Given the description of an element on the screen output the (x, y) to click on. 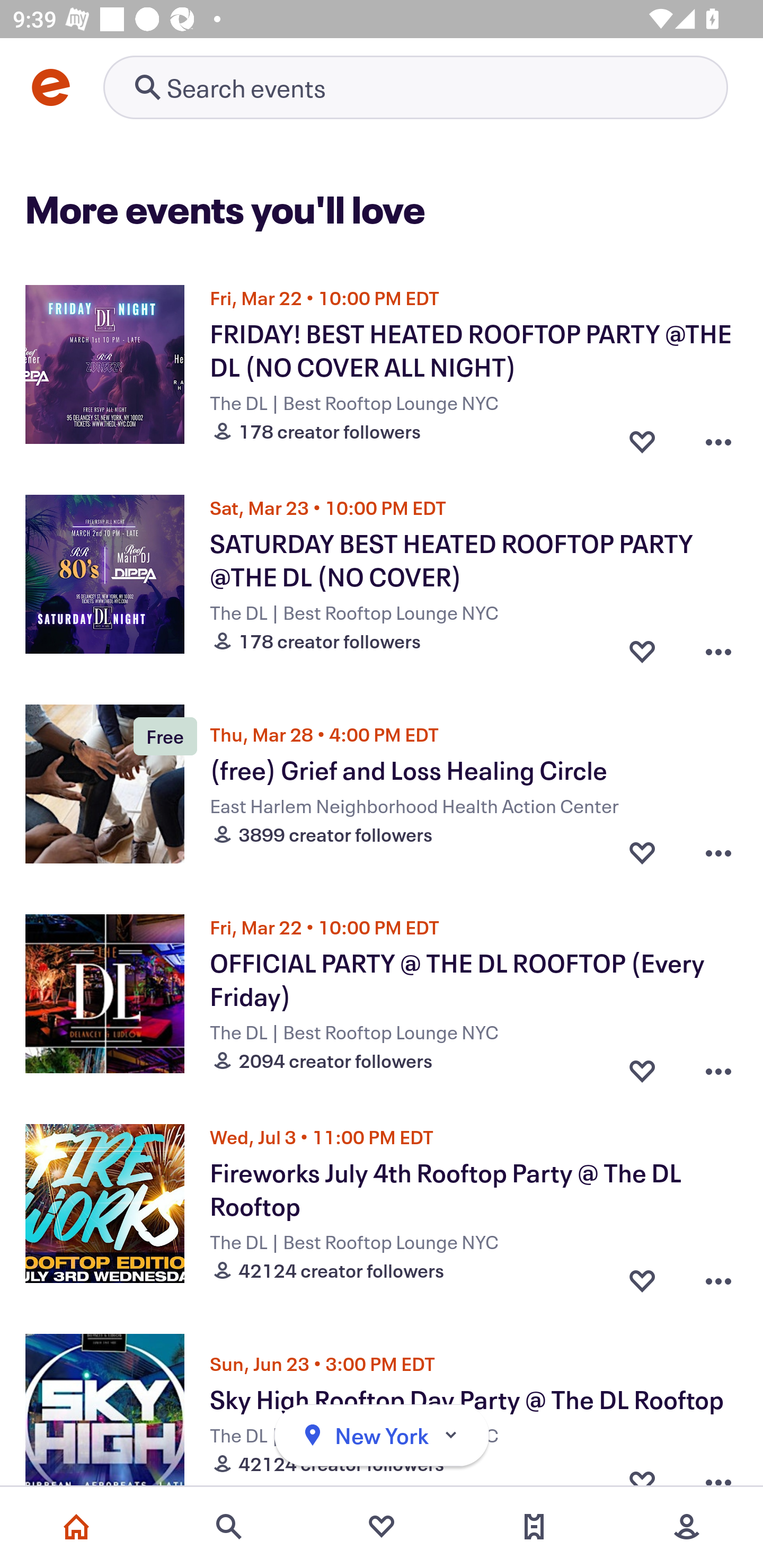
Retry's image Search events (415, 86)
Favorite button (642, 436)
Overflow menu button (718, 436)
Favorite button (642, 646)
Overflow menu button (718, 646)
Favorite button (642, 852)
Overflow menu button (718, 852)
Favorite button (642, 1066)
Overflow menu button (718, 1066)
Favorite button (642, 1275)
Overflow menu button (718, 1275)
New York (381, 1435)
Home (76, 1526)
Search events (228, 1526)
Favorites (381, 1526)
Tickets (533, 1526)
More (686, 1526)
